Given the description of an element on the screen output the (x, y) to click on. 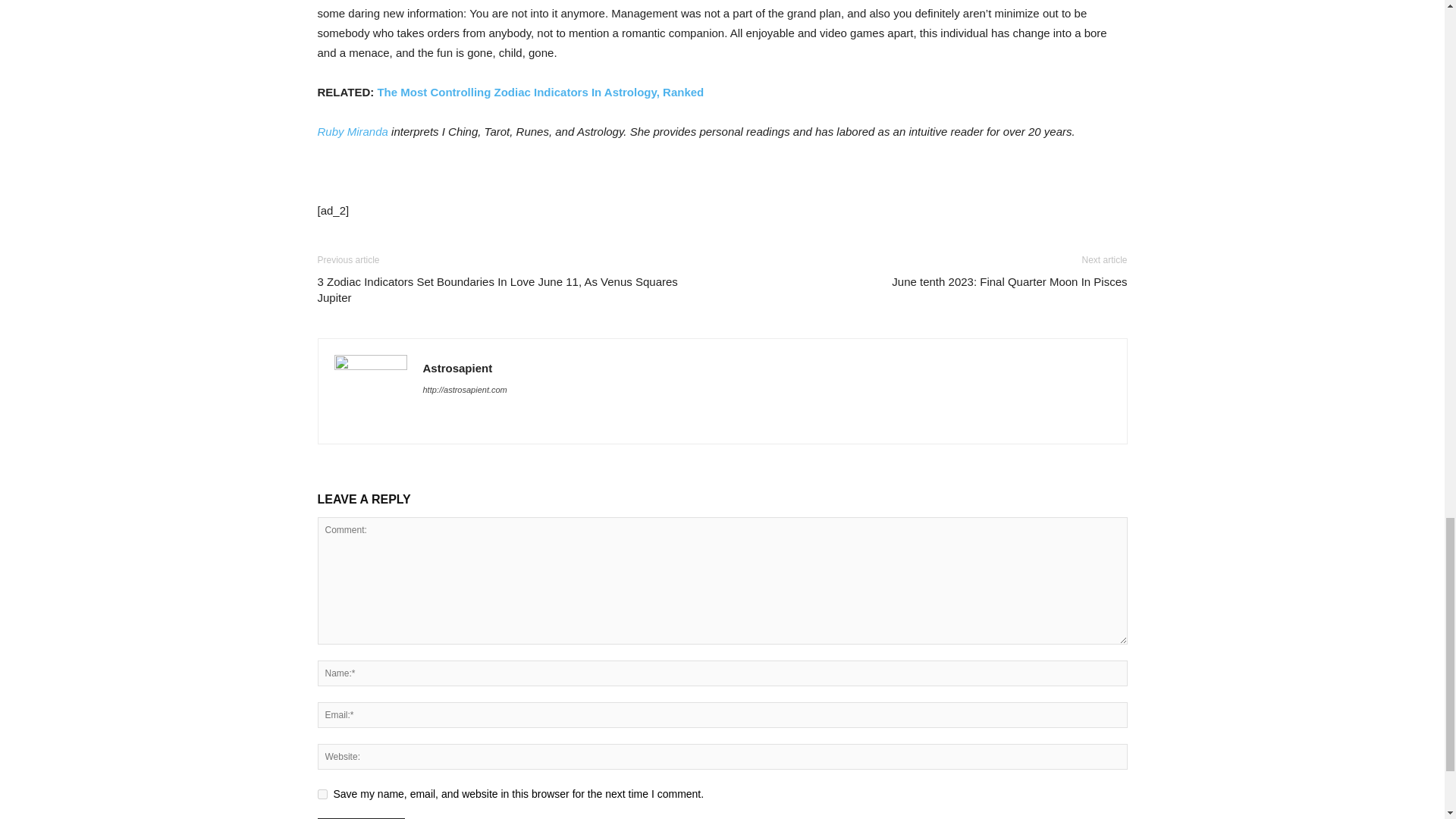
yes (321, 794)
June tenth 2023: Final Quarter Moon In Pisces (1008, 281)
The Most Controlling Zodiac Indicators In Astrology, Ranked (540, 91)
Ruby Miranda (352, 131)
Astrosapient (458, 367)
